Given the description of an element on the screen output the (x, y) to click on. 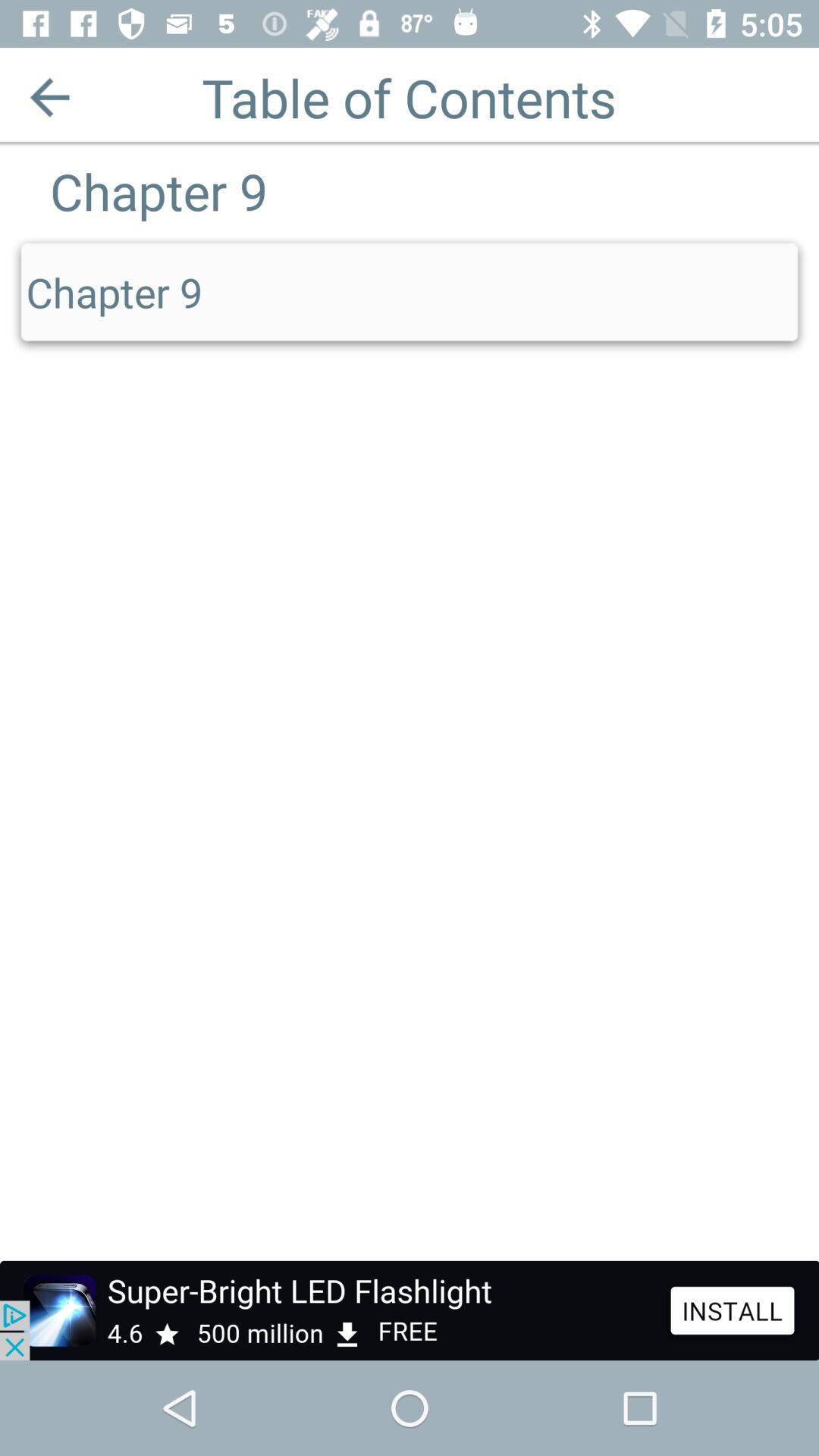
advertisement page (409, 1310)
